Given the description of an element on the screen output the (x, y) to click on. 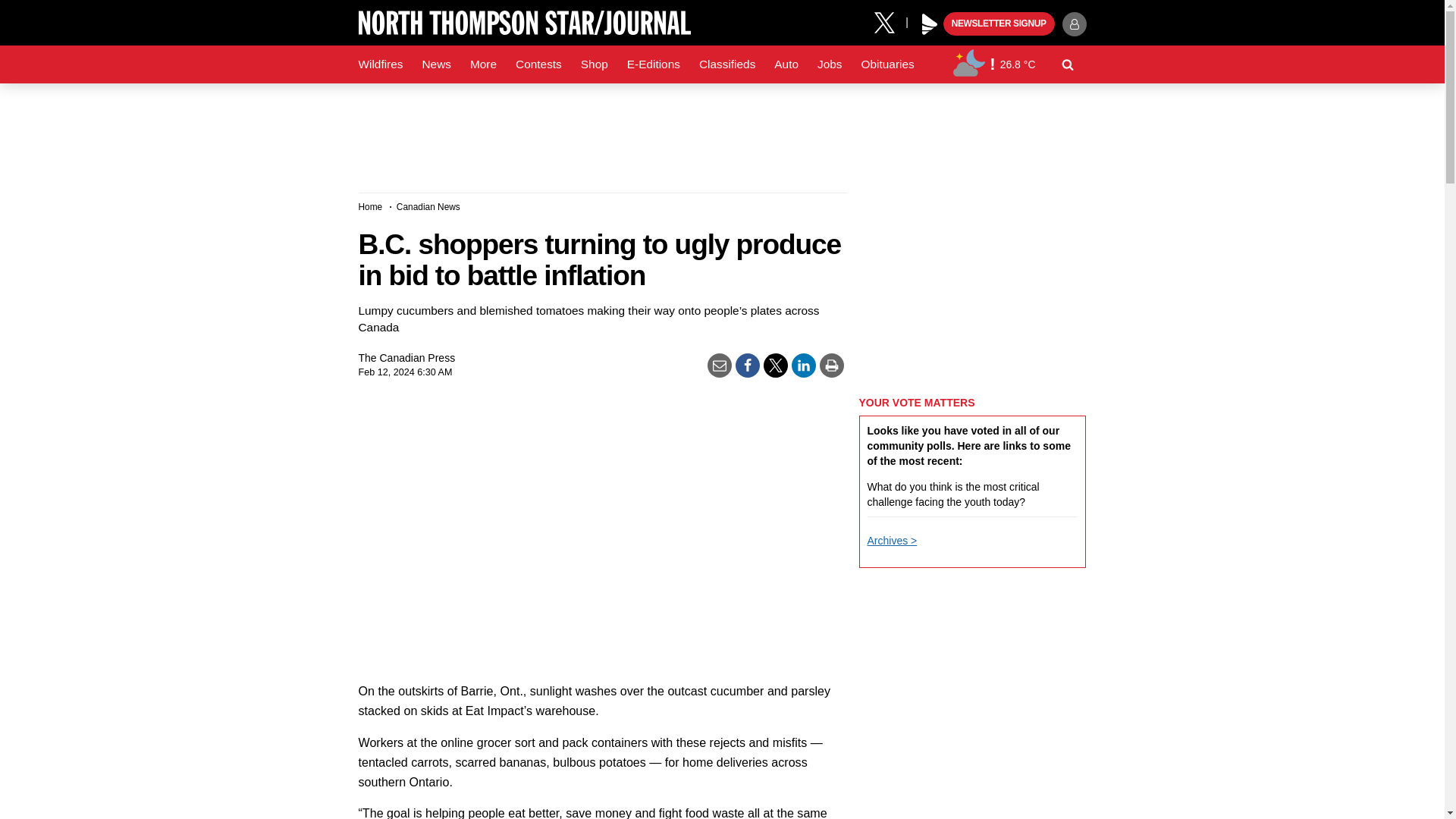
Wildfires (380, 64)
NEWSLETTER SIGNUP (998, 24)
Play (929, 24)
Black Press Media (929, 24)
X (889, 21)
News (435, 64)
